Given the description of an element on the screen output the (x, y) to click on. 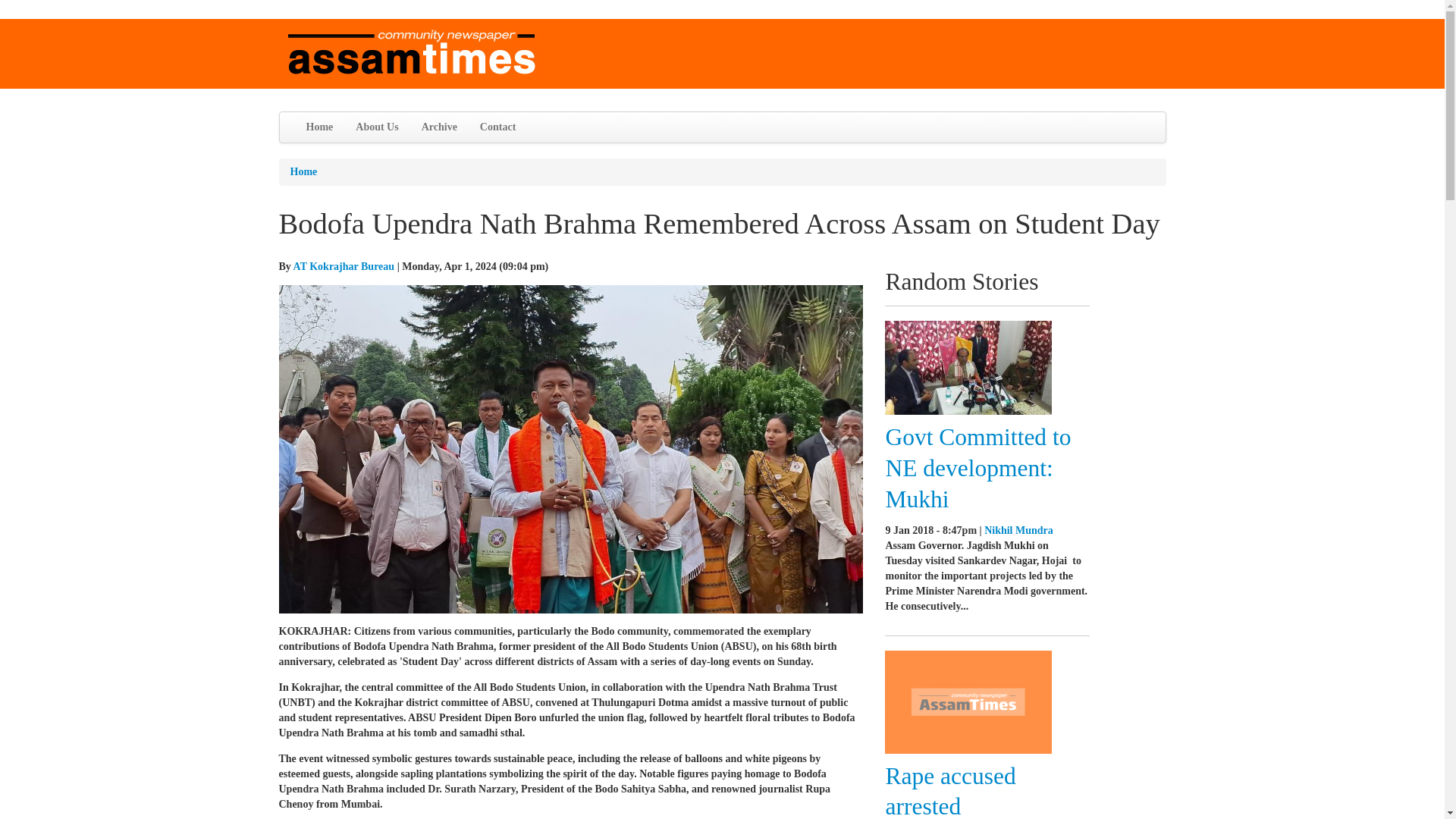
Home (318, 127)
Govt Committed to NE development: Mukhi (977, 468)
Home (303, 171)
AT Kokrajhar Bureau (344, 266)
Archive (439, 127)
About Us (376, 127)
Return to the Assam Times home page (411, 52)
Skip to content (32, 18)
Contact (497, 127)
Rape accused arrested (949, 790)
View user profile. (1018, 530)
View user profile. (344, 266)
Nikhil Mundra (1018, 530)
